Given the description of an element on the screen output the (x, y) to click on. 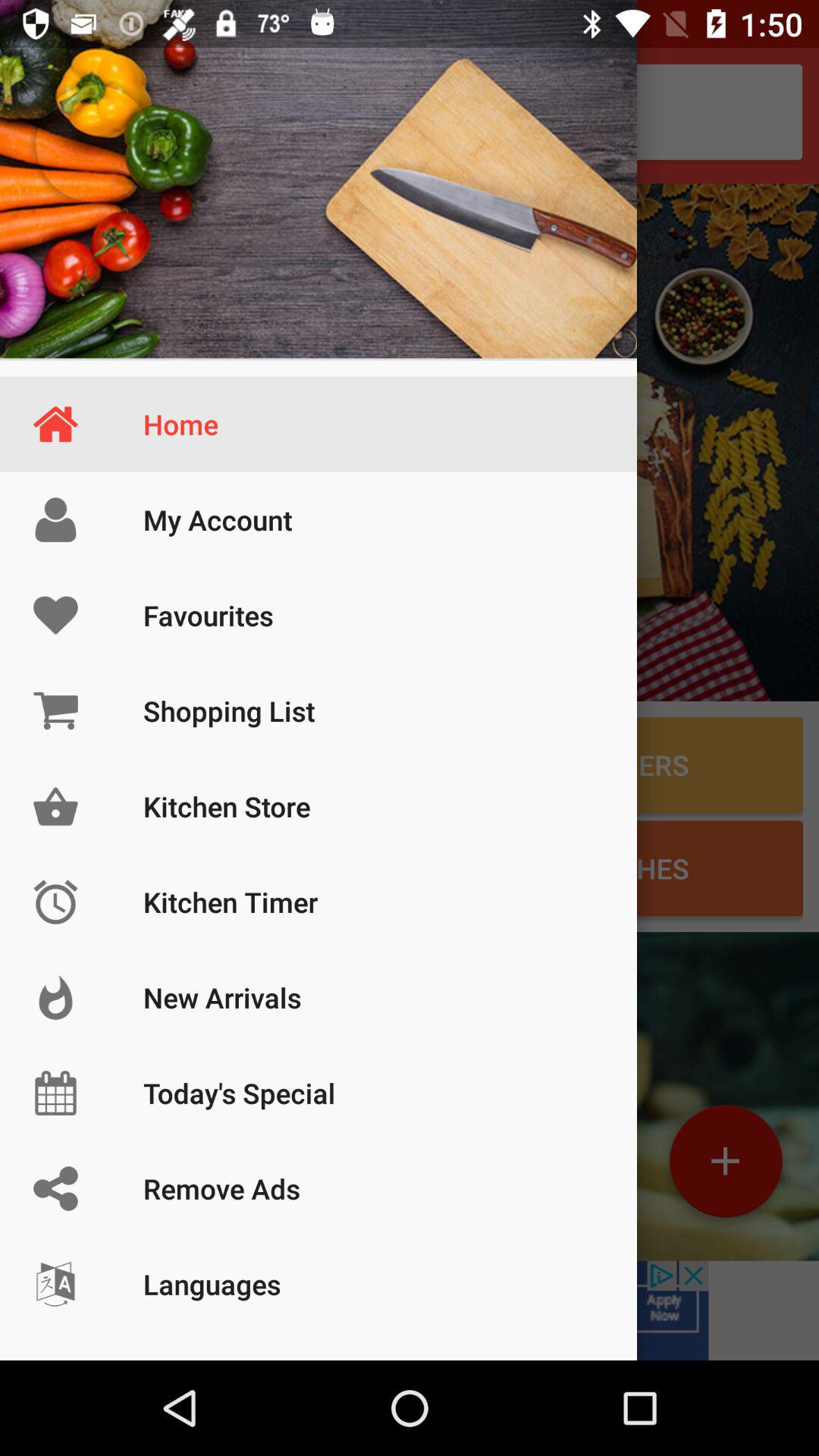
click on the icon and the text home (318, 179)
